Given the description of an element on the screen output the (x, y) to click on. 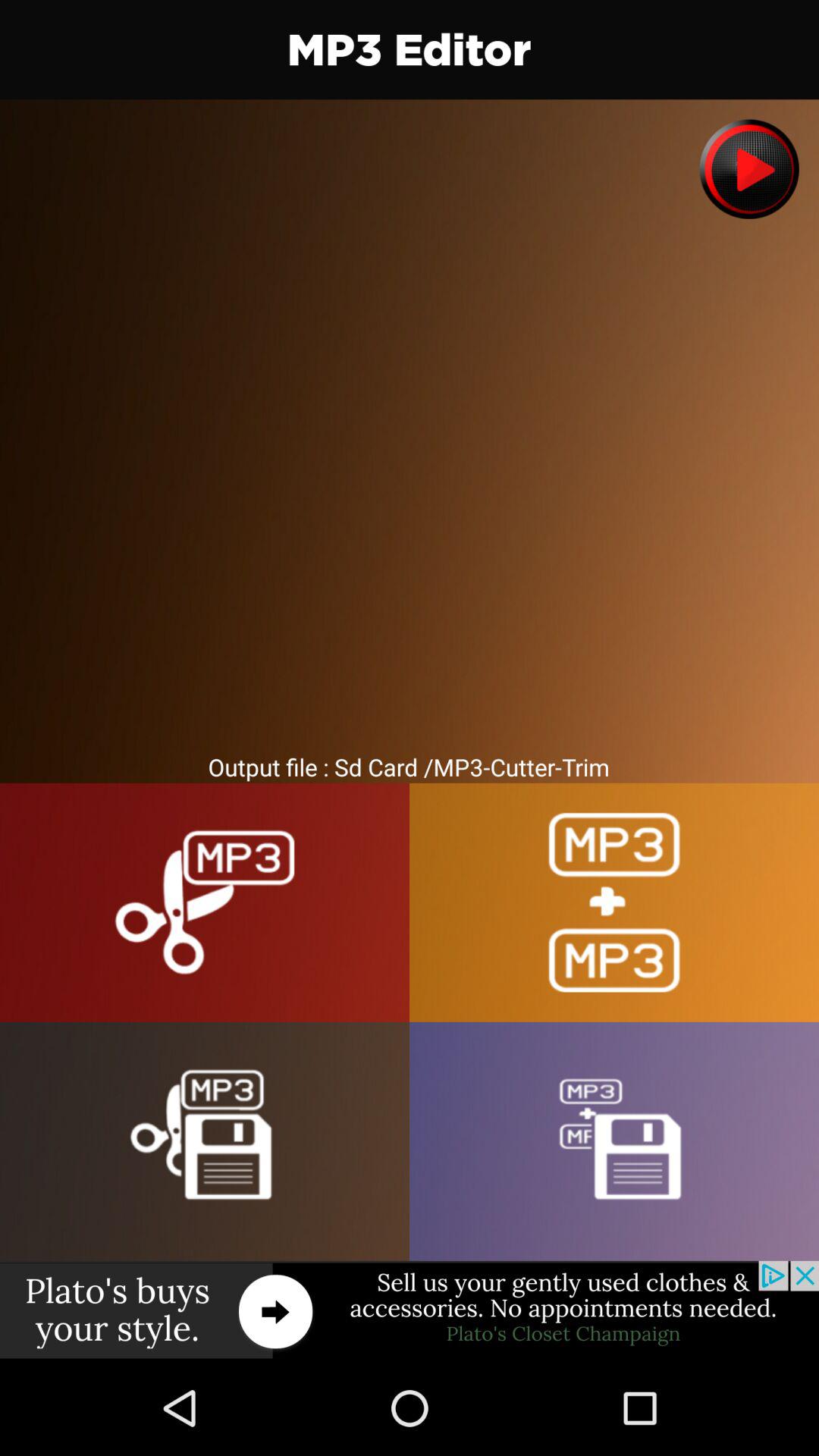
save mp3 (614, 1141)
